Given the description of an element on the screen output the (x, y) to click on. 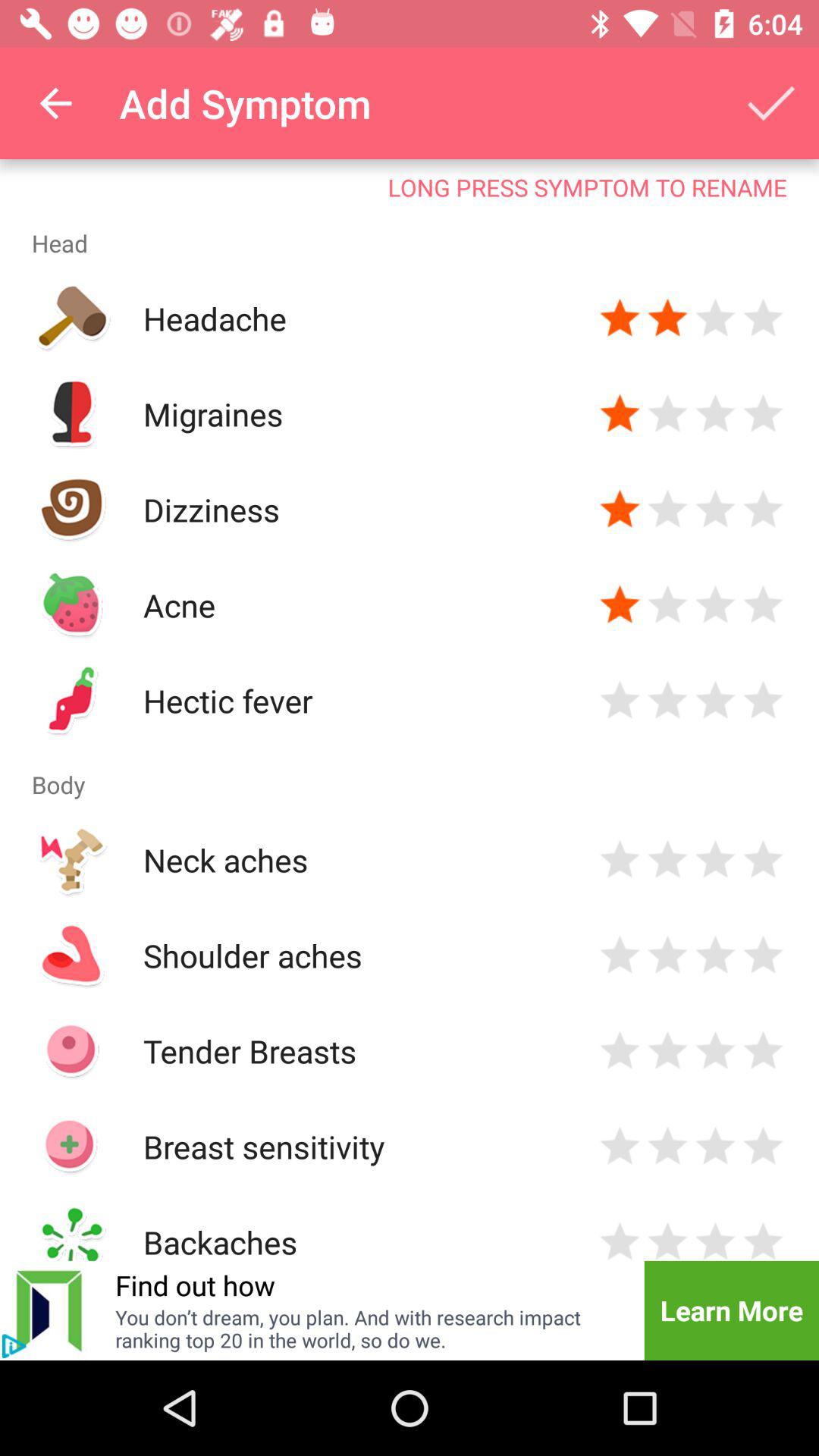
indicates intensity of symptom (715, 605)
